Given the description of an element on the screen output the (x, y) to click on. 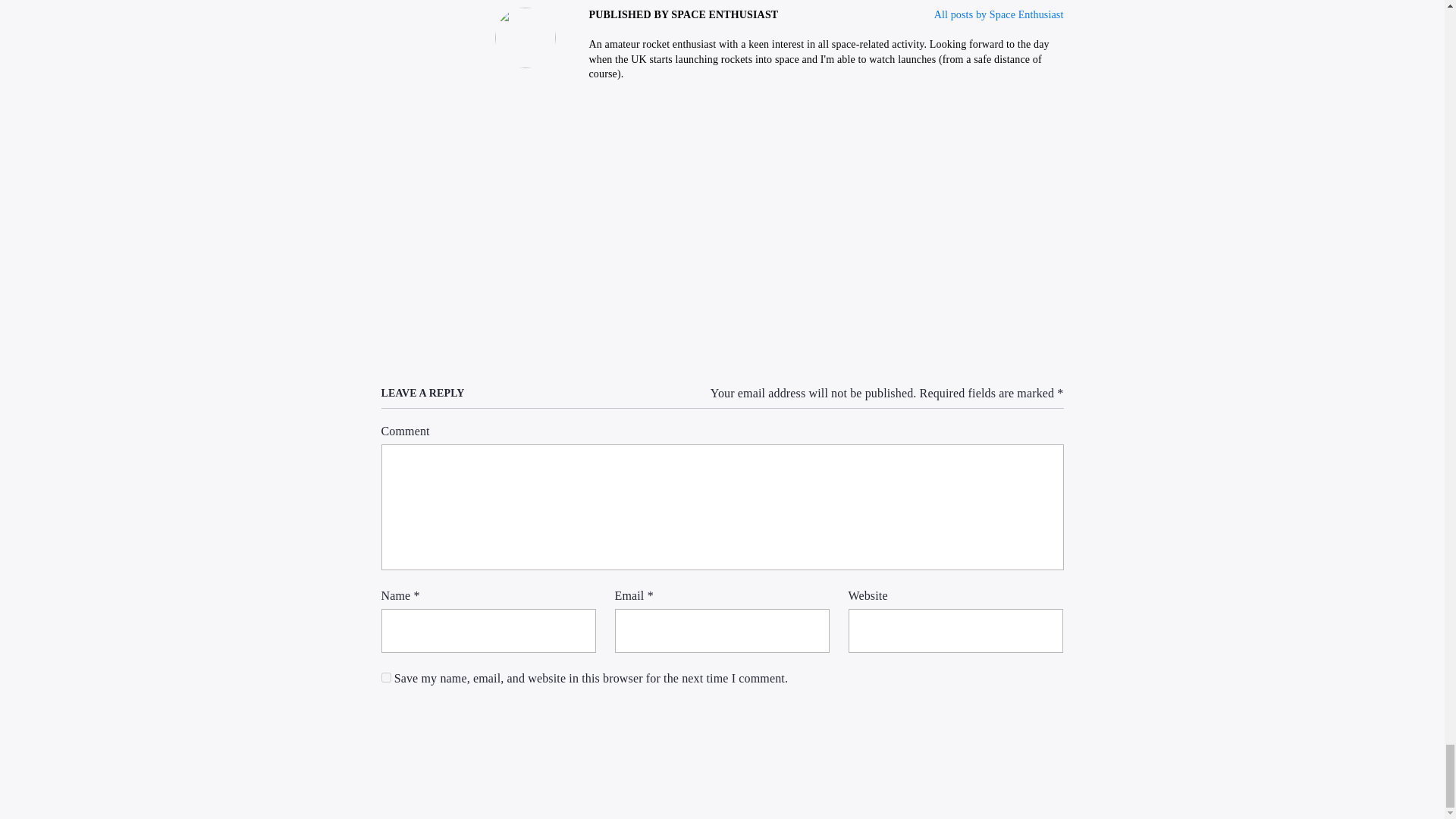
yes (385, 677)
